Given the description of an element on the screen output the (x, y) to click on. 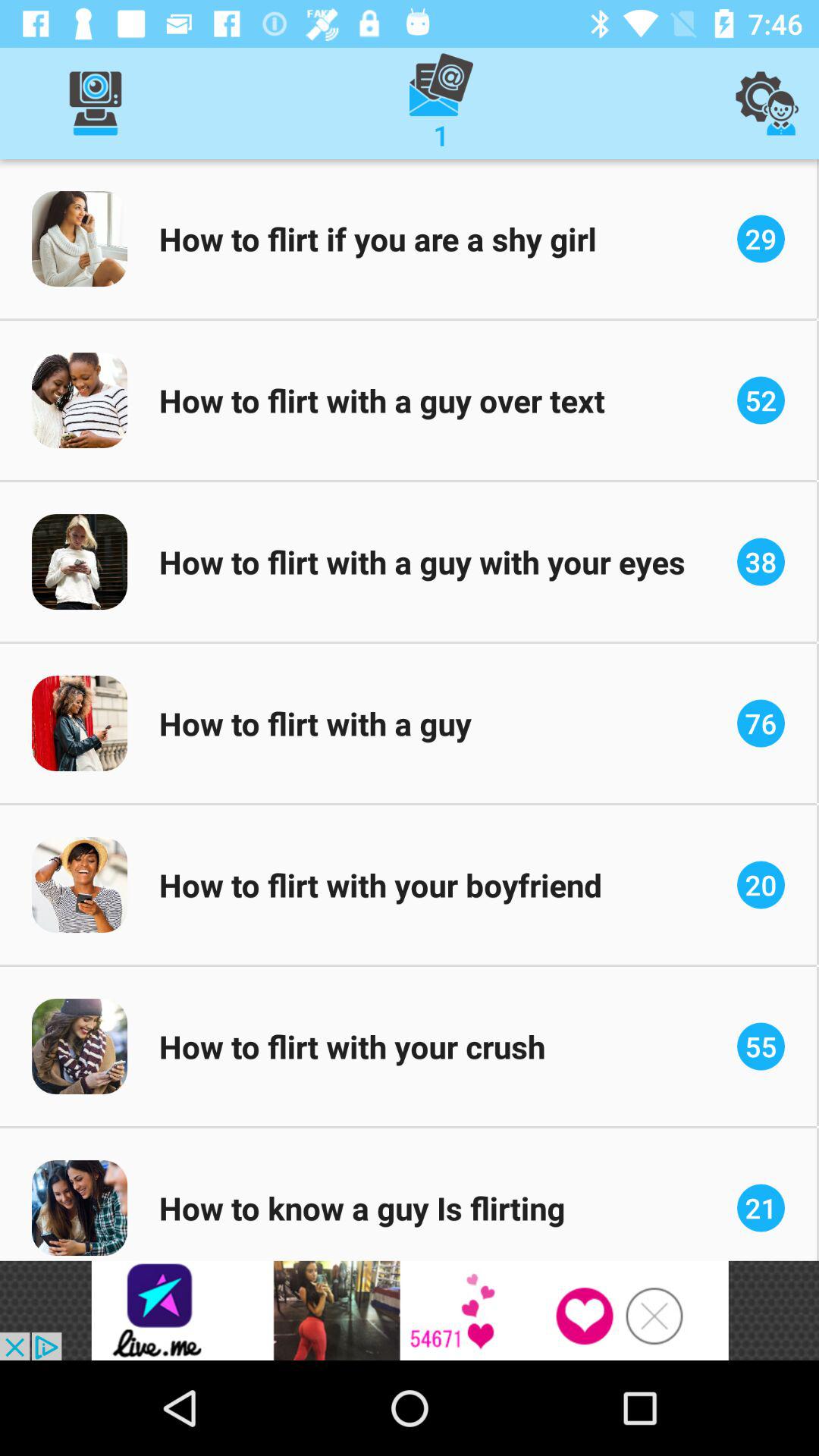
click on the advertisement (409, 1310)
